Given the description of an element on the screen output the (x, y) to click on. 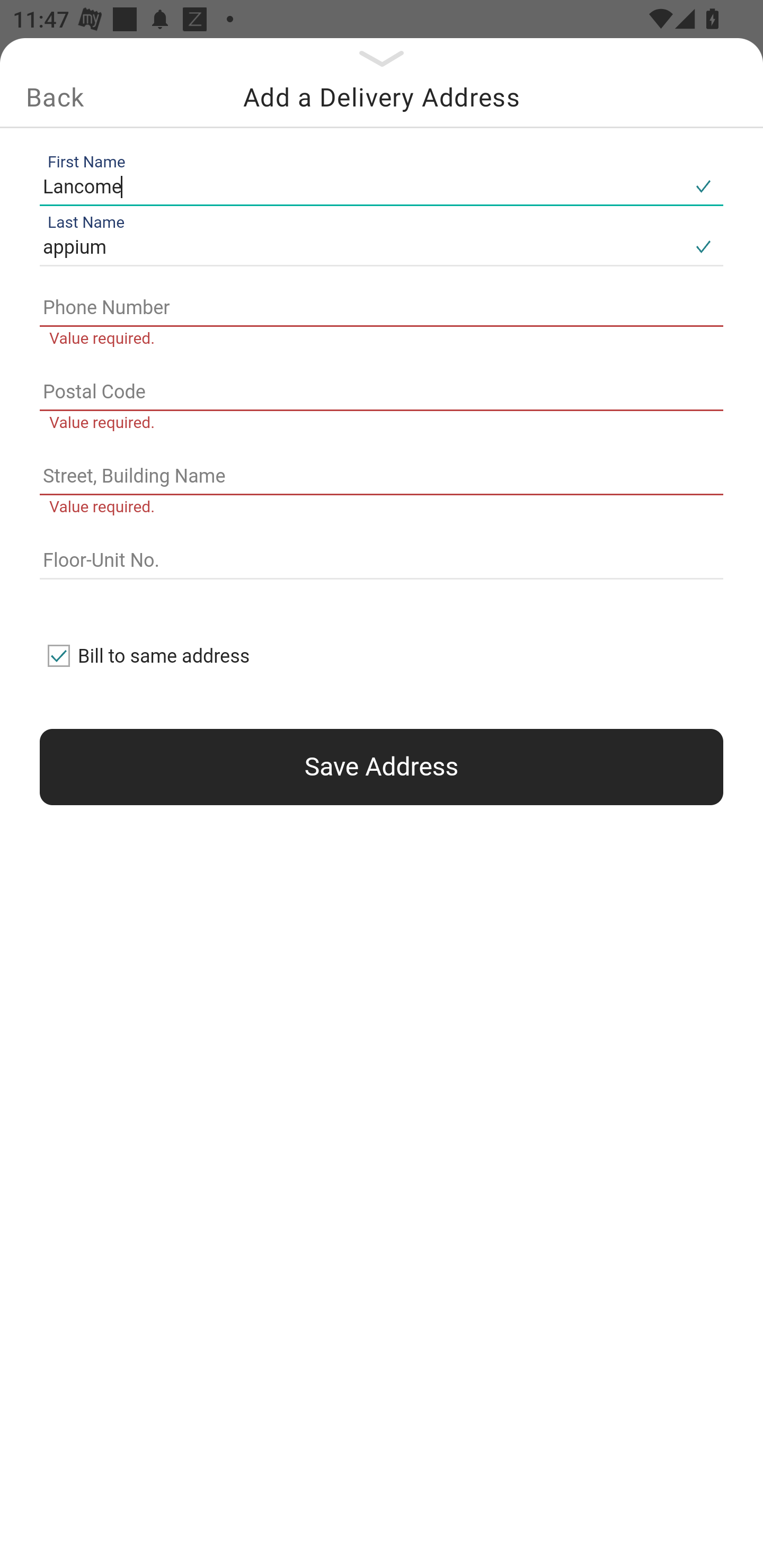
Back (54, 96)
Add a Delivery Address (381, 96)
Lancome (361, 186)
appium (361, 247)
Save Address (381, 767)
